Given the description of an element on the screen output the (x, y) to click on. 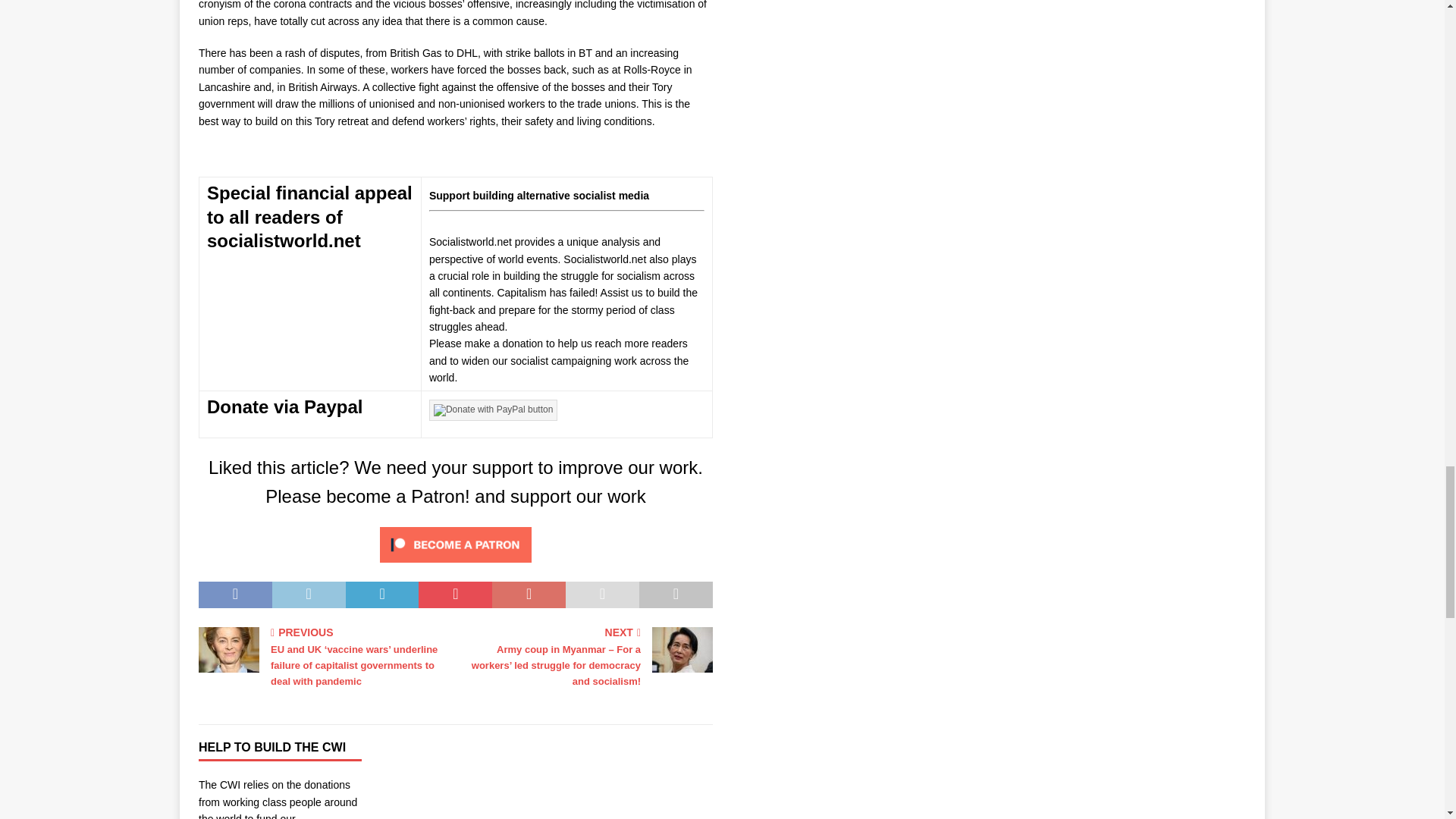
PayPal - The safer, easier way to pay online! (493, 409)
